Given the description of an element on the screen output the (x, y) to click on. 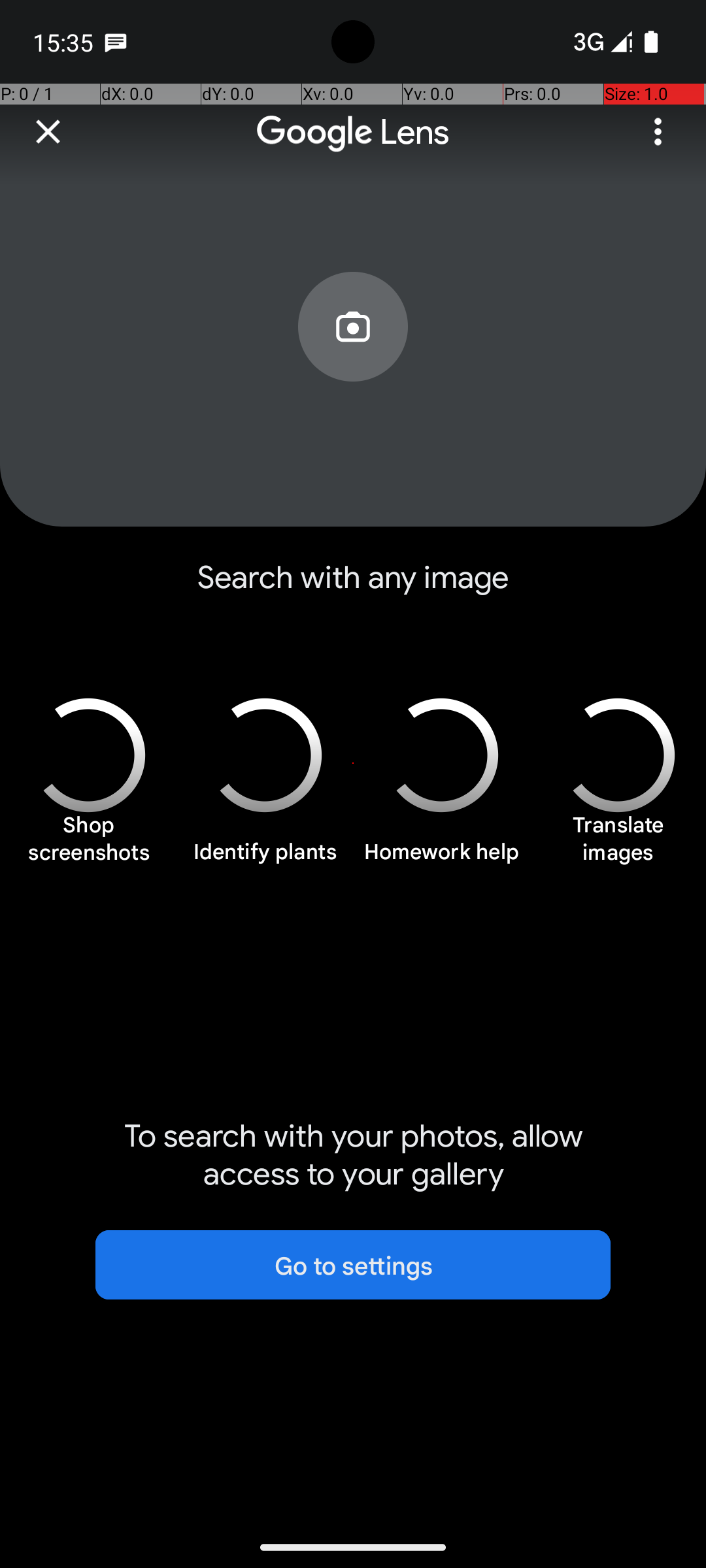
Search with your camera Element type: android.widget.FrameLayout (353, 356)
Search with any image Element type: android.widget.TextView (353, 587)
Shop screenshots Element type: android.widget.TextView (88, 845)
Identify plants Element type: android.widget.TextView (264, 858)
Homework help Element type: android.widget.TextView (441, 858)
Translate images Element type: android.widget.TextView (617, 845)
To search with your photos, allow access to your gallery Element type: android.widget.TextView (352, 1154)
Go to settings Element type: android.widget.Button (352, 1264)
